Given the description of an element on the screen output the (x, y) to click on. 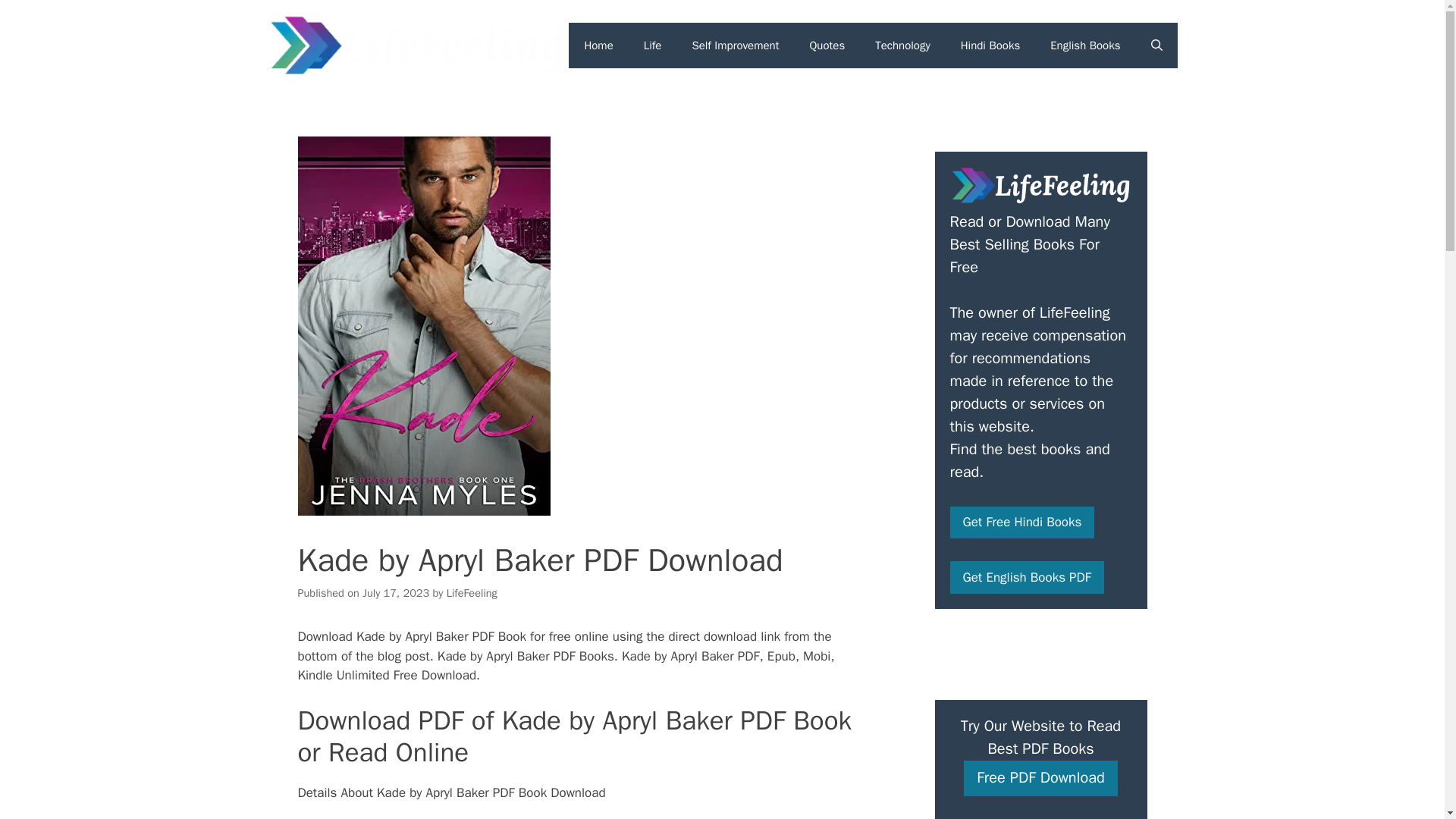
View all posts by LifeFeeling (471, 592)
Home (598, 44)
Quotes (826, 44)
Get Hindi Books PDF (1021, 522)
Technology (902, 44)
Life (652, 44)
Free PDF Download (1040, 778)
English Books PDF (1026, 577)
Get Free Hindi Books (1021, 522)
Hindi Books (989, 44)
